Given the description of an element on the screen output the (x, y) to click on. 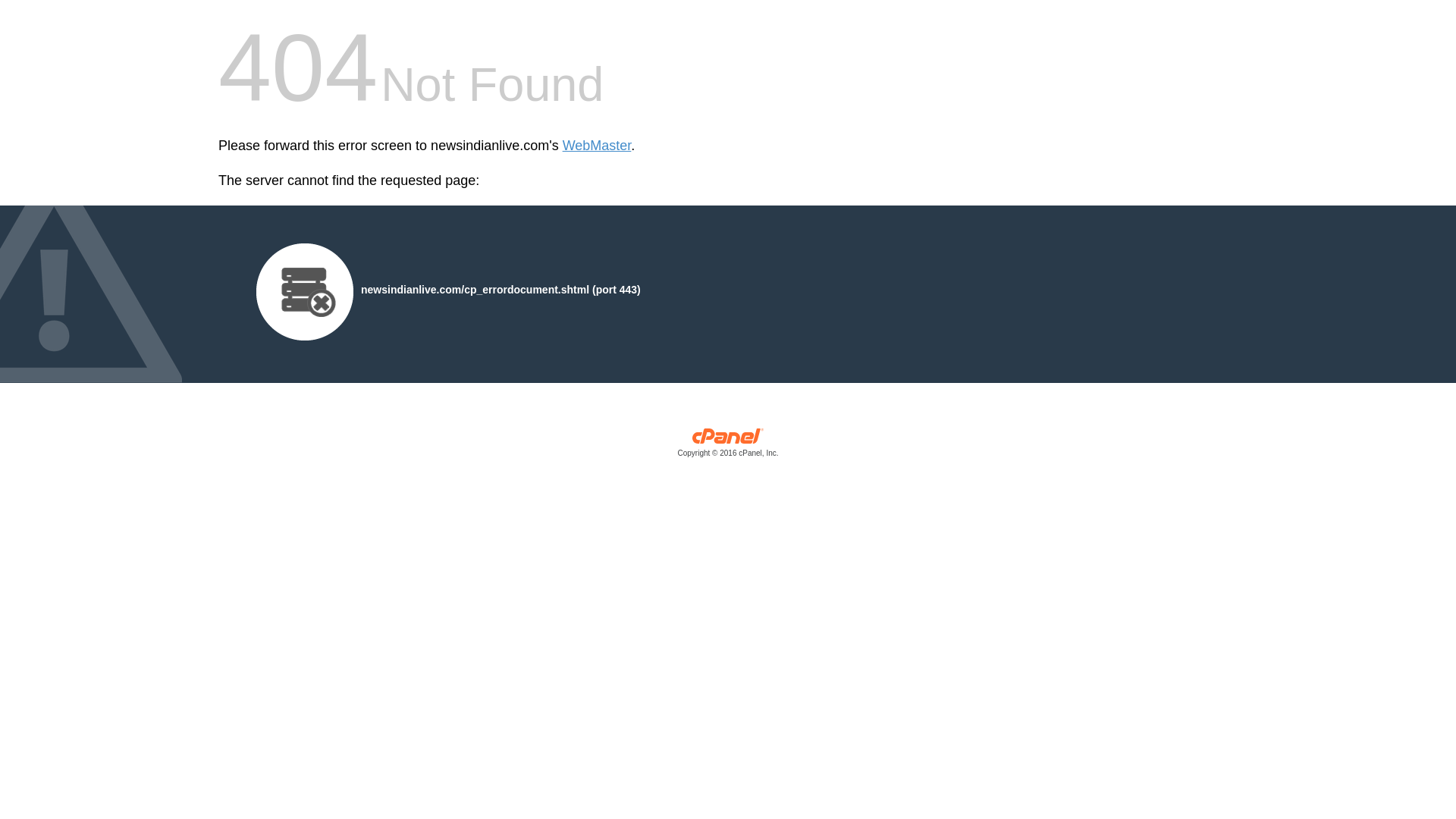
WebMaster (596, 145)
cPanel, Inc. (727, 446)
